Given the description of an element on the screen output the (x, y) to click on. 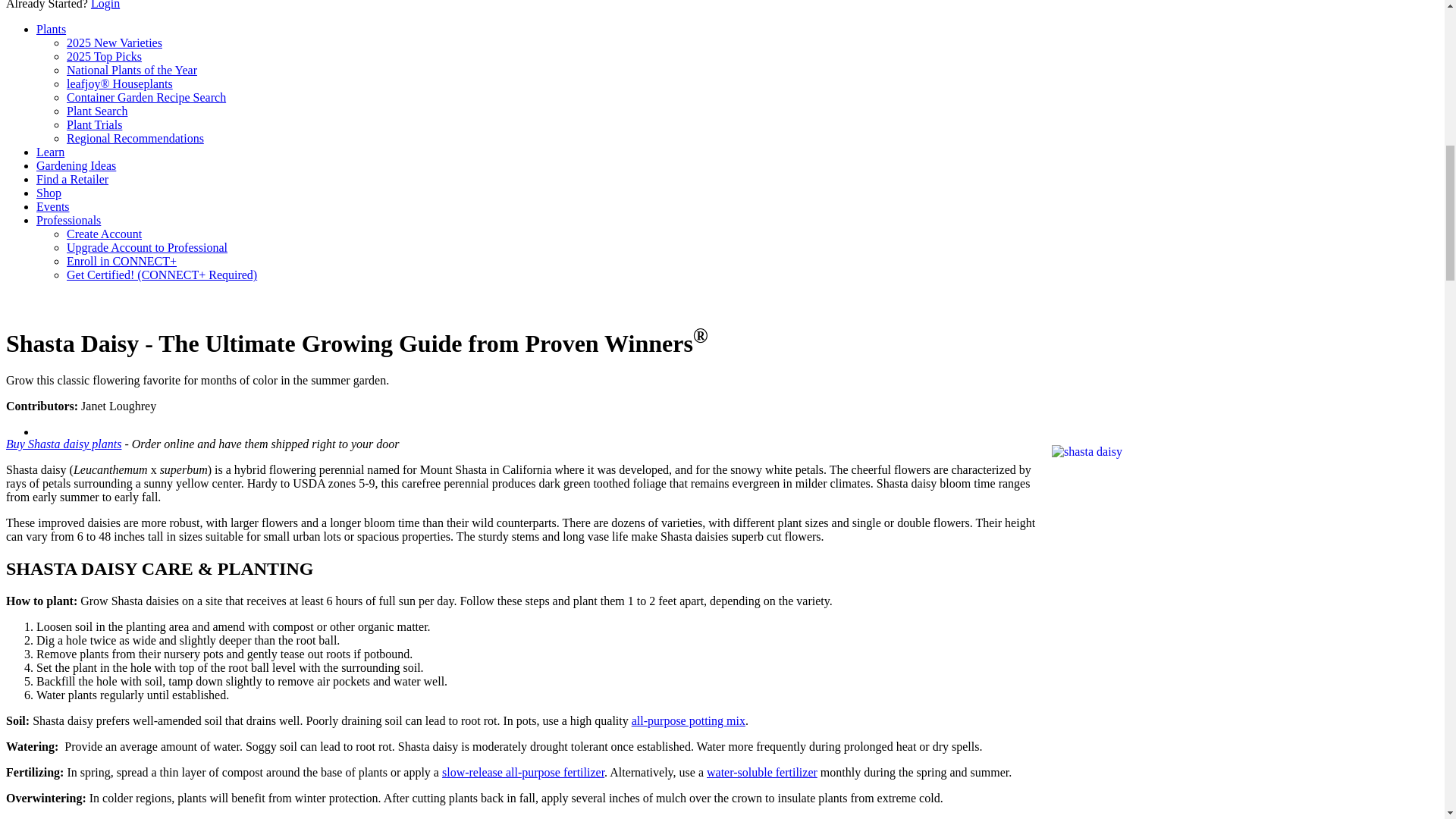
Login (104, 4)
